Given the description of an element on the screen output the (x, y) to click on. 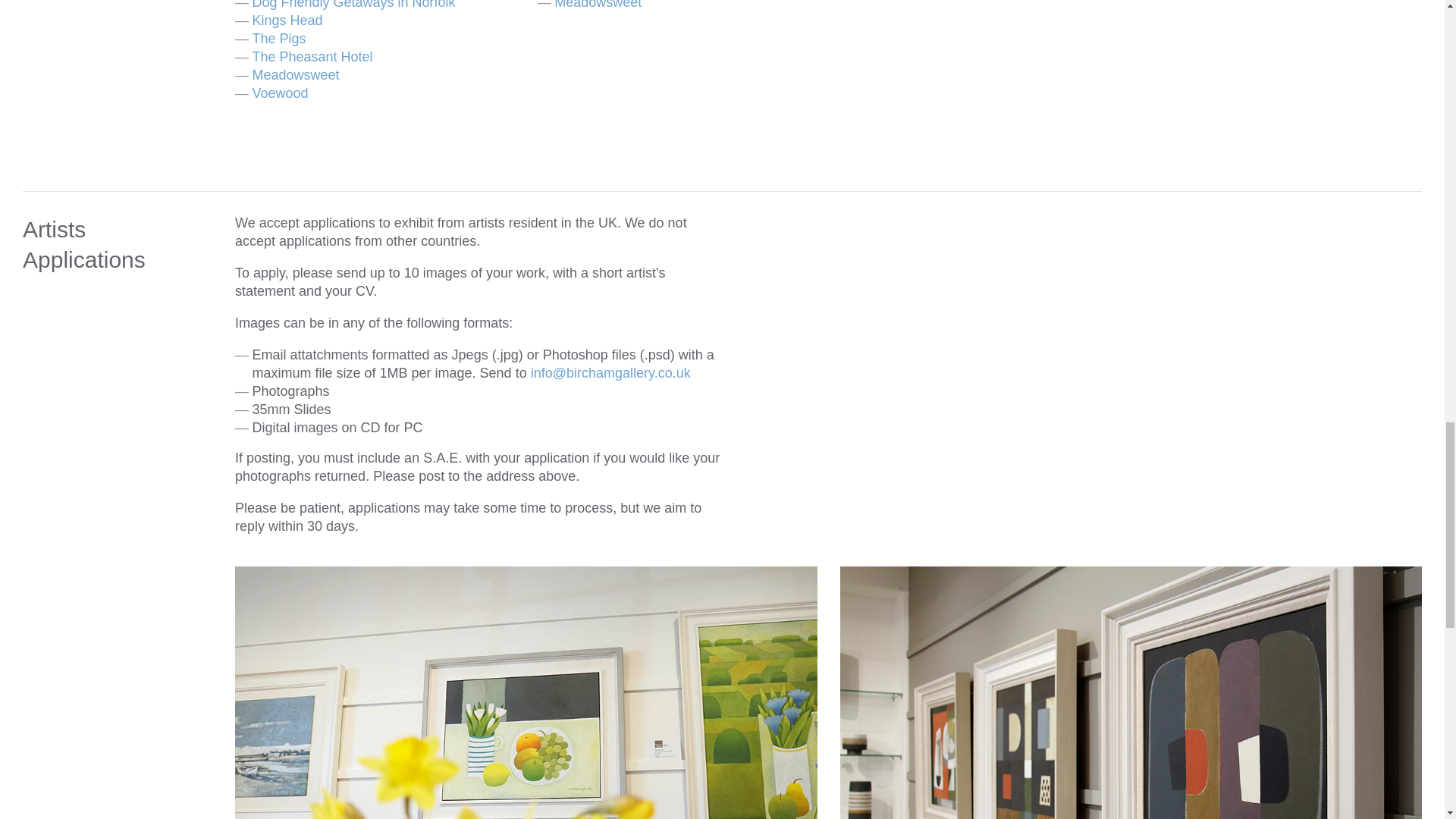
Meadowsweet (598, 4)
The Pigs (278, 38)
Kings Head (286, 20)
Email your application to us (610, 372)
Dog Friendly Getaways in Norfolk (352, 4)
Voewood (279, 92)
The Pheasant Hotel (311, 56)
Meadowsweet (295, 74)
